Given the description of an element on the screen output the (x, y) to click on. 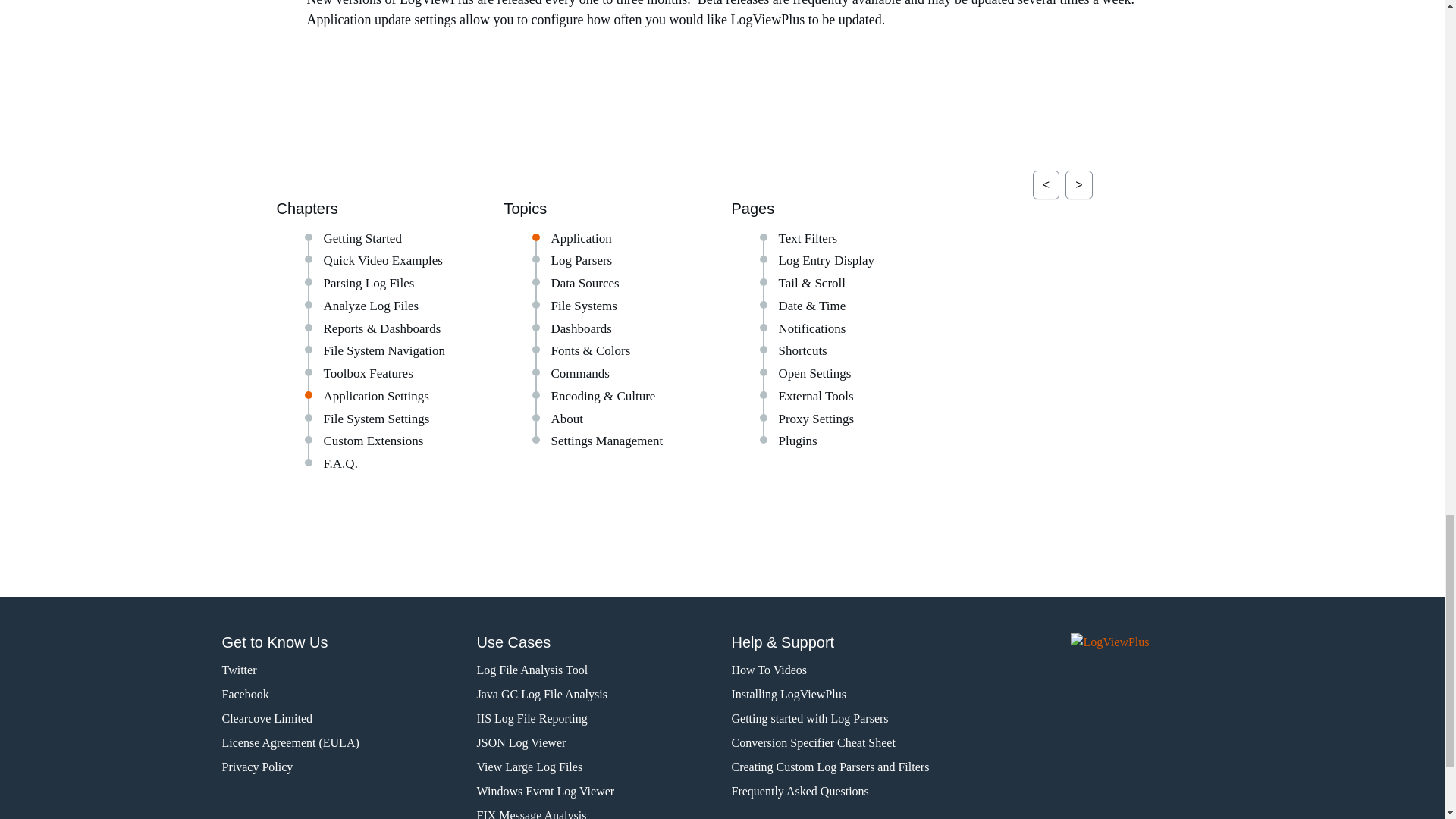
Analyze Log Files (371, 305)
Text Filters (807, 237)
Dashboards (580, 328)
Custom Extensions (373, 440)
File System Navigation (384, 350)
File System Settings (376, 418)
Log Parsers (580, 260)
Parsing Log Files (368, 283)
Application (580, 237)
LogViewPlus Home (1146, 648)
